Given the description of an element on the screen output the (x, y) to click on. 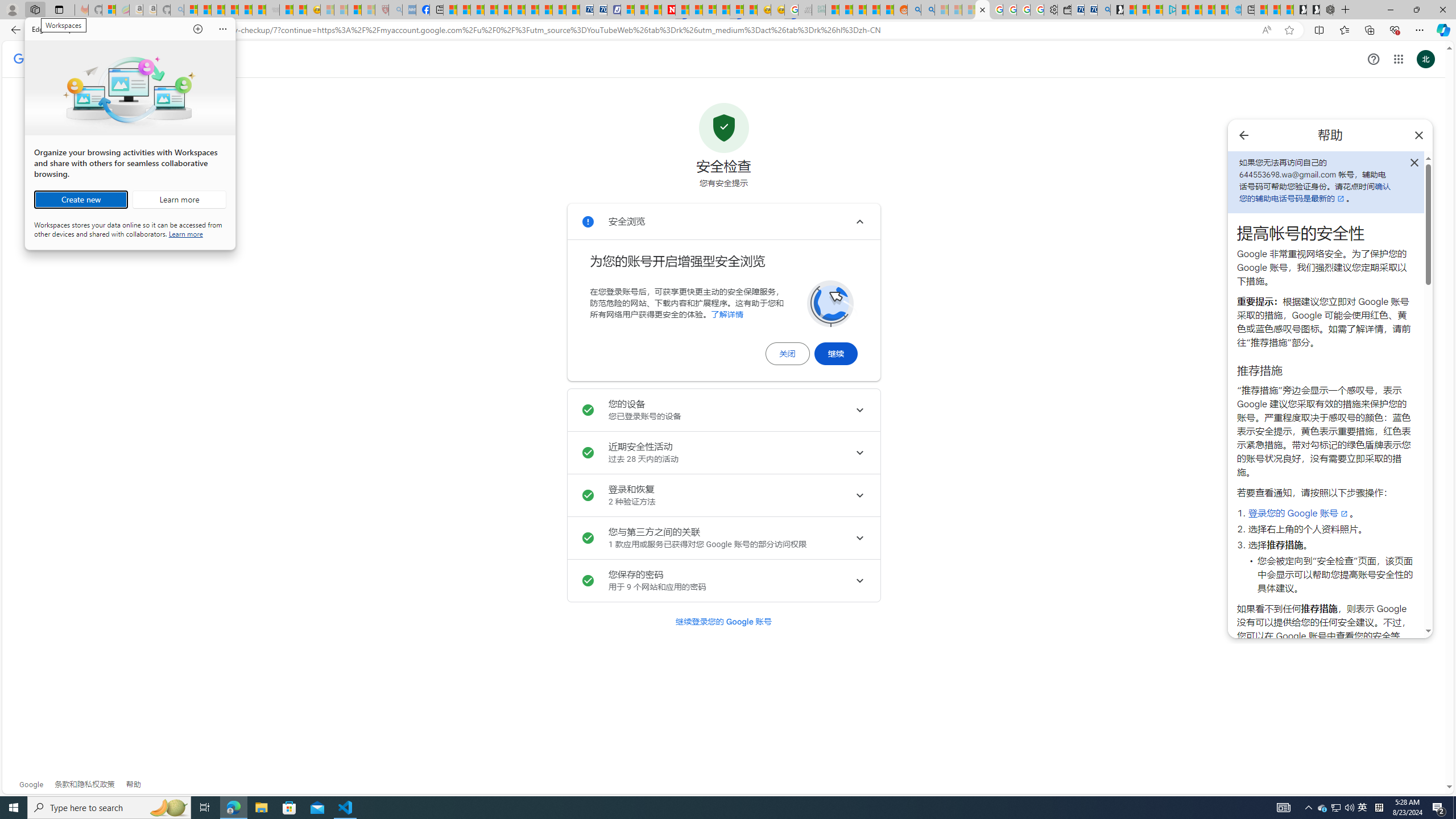
Cheap Car Rentals - Save70.com (1090, 9)
Class: gb_E (1398, 59)
Learn more about Workspaces (1362, 807)
Utah sues federal government - Search (178, 199)
